Given the description of an element on the screen output the (x, y) to click on. 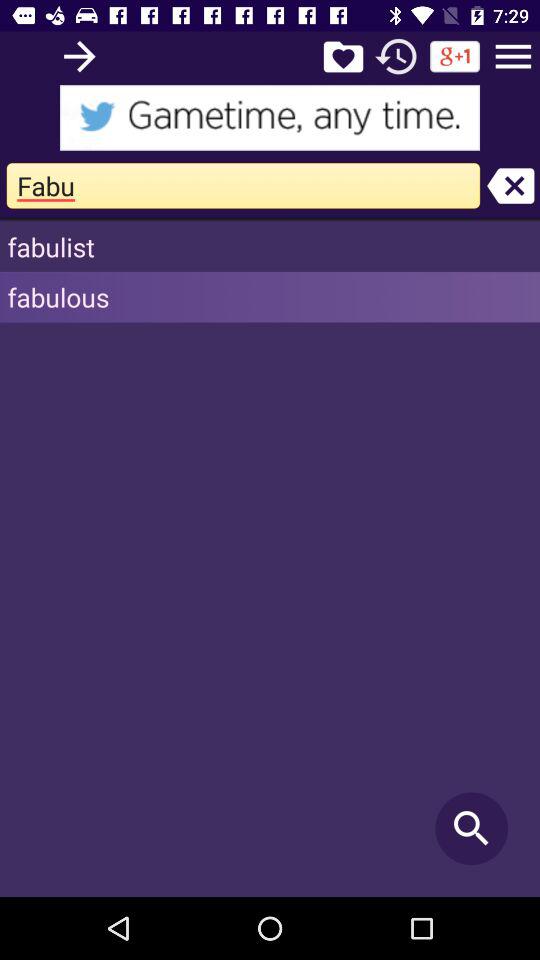
open settings (513, 56)
